Given the description of an element on the screen output the (x, y) to click on. 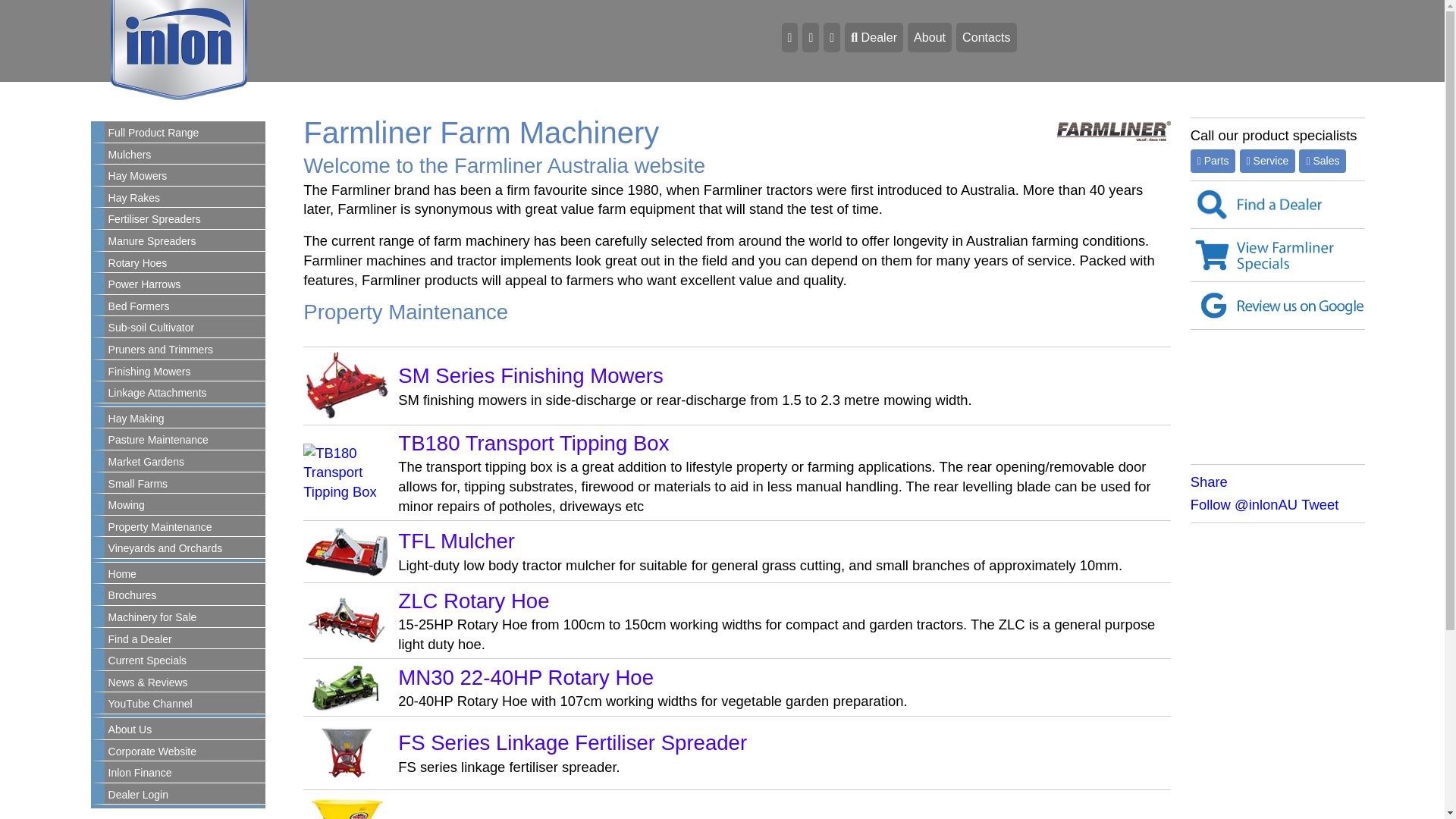
Mulchers (184, 155)
Full Product Range (184, 133)
